Given the description of an element on the screen output the (x, y) to click on. 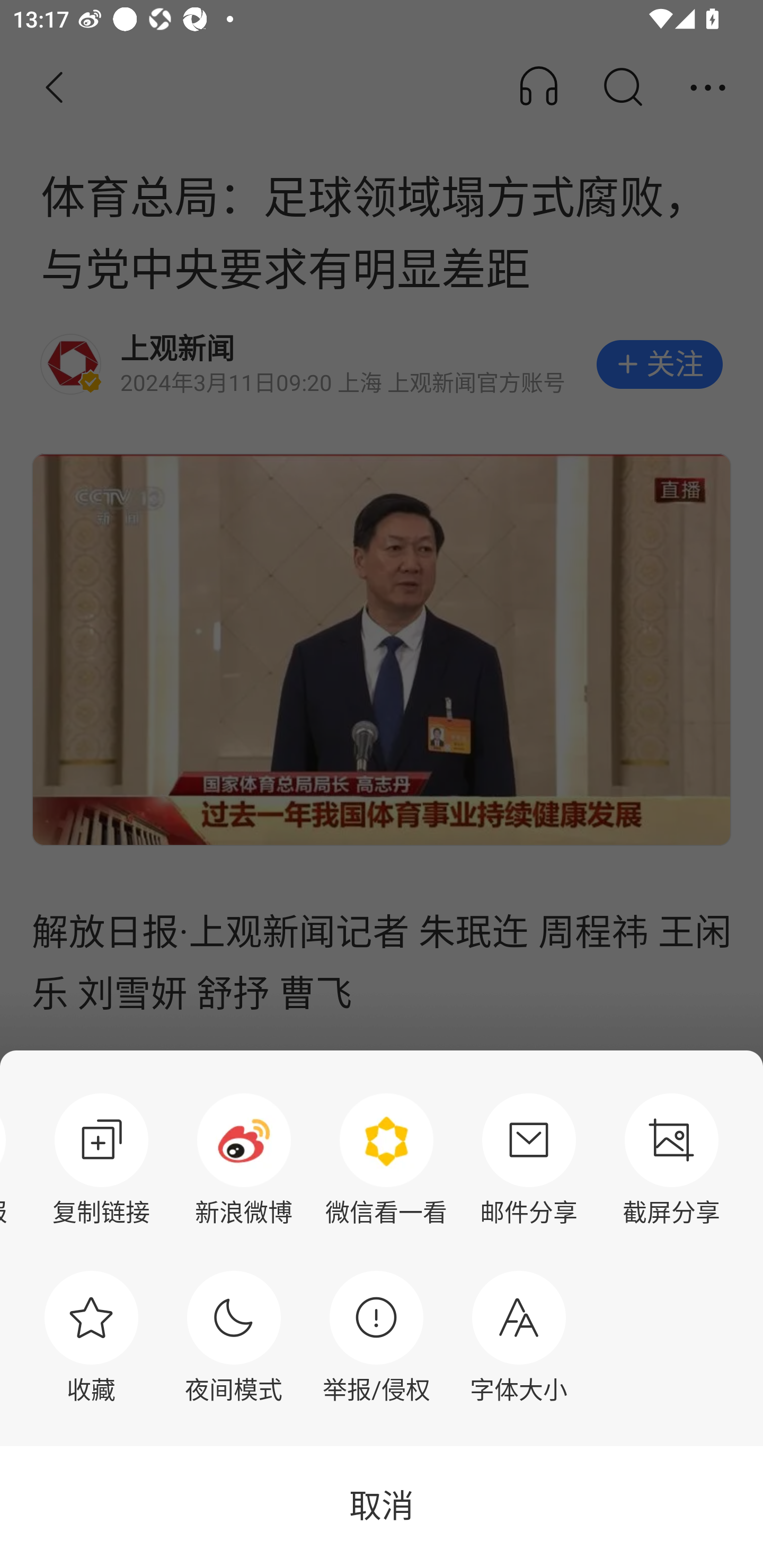
 复制链接 复制链接 (101, 1159)
新浪微博 (243, 1159)
微信看一看 (386, 1159)
 邮件分享 邮件分享 (528, 1159)
 截屏分享 截屏分享 (671, 1159)
 收藏 收藏 (90, 1337)
 夜间模式 夜间模式 (233, 1337)
 举报/侵权 举报/侵权 (376, 1337)
 字体大小 字体大小 (518, 1337)
取消 (381, 1506)
